Given the description of an element on the screen output the (x, y) to click on. 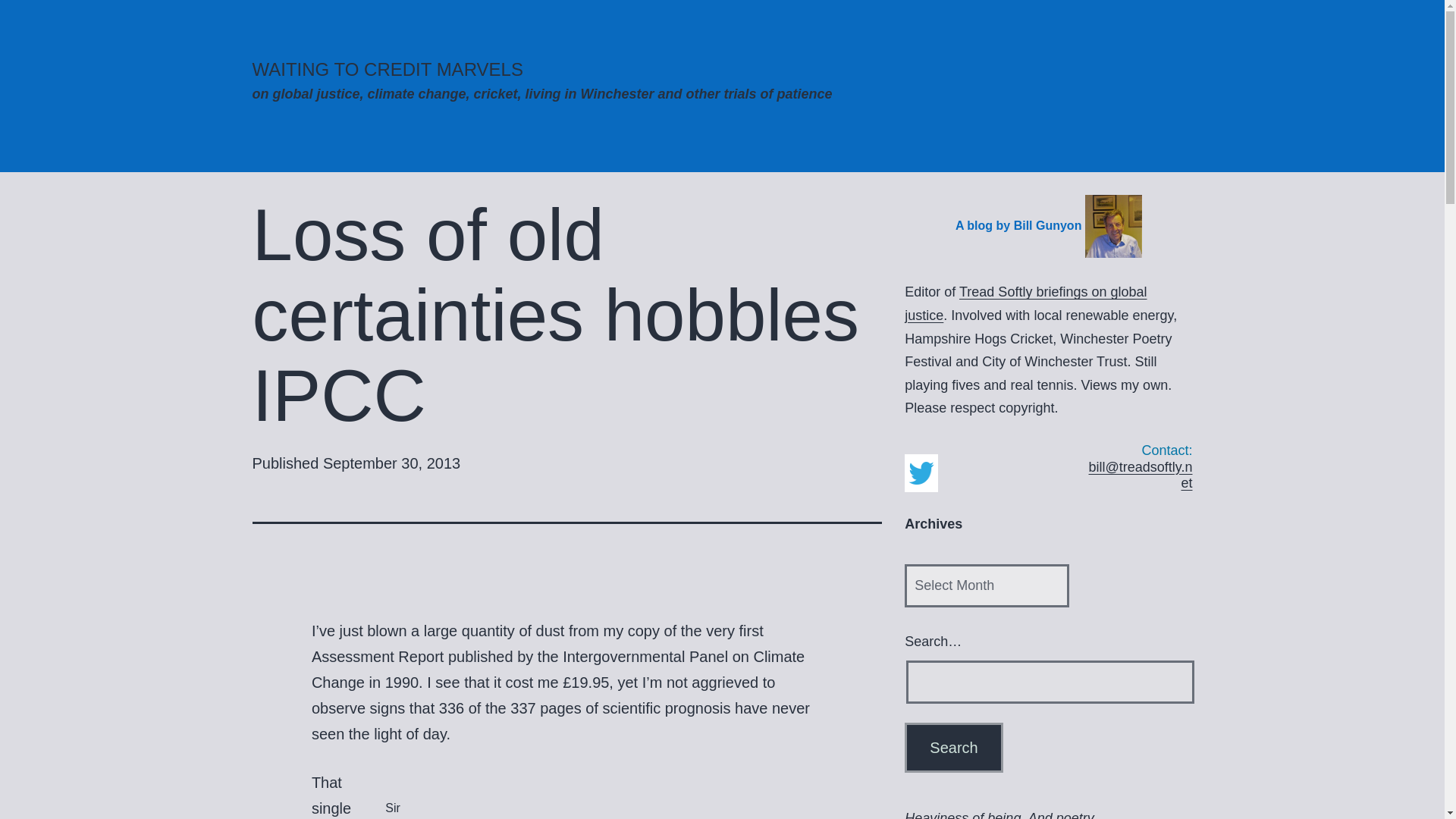
Search (953, 747)
Tread Softly briefings on global justice (1025, 303)
WAITING TO CREDIT MARVELS (386, 68)
Search (953, 747)
Search (953, 747)
